Given the description of an element on the screen output the (x, y) to click on. 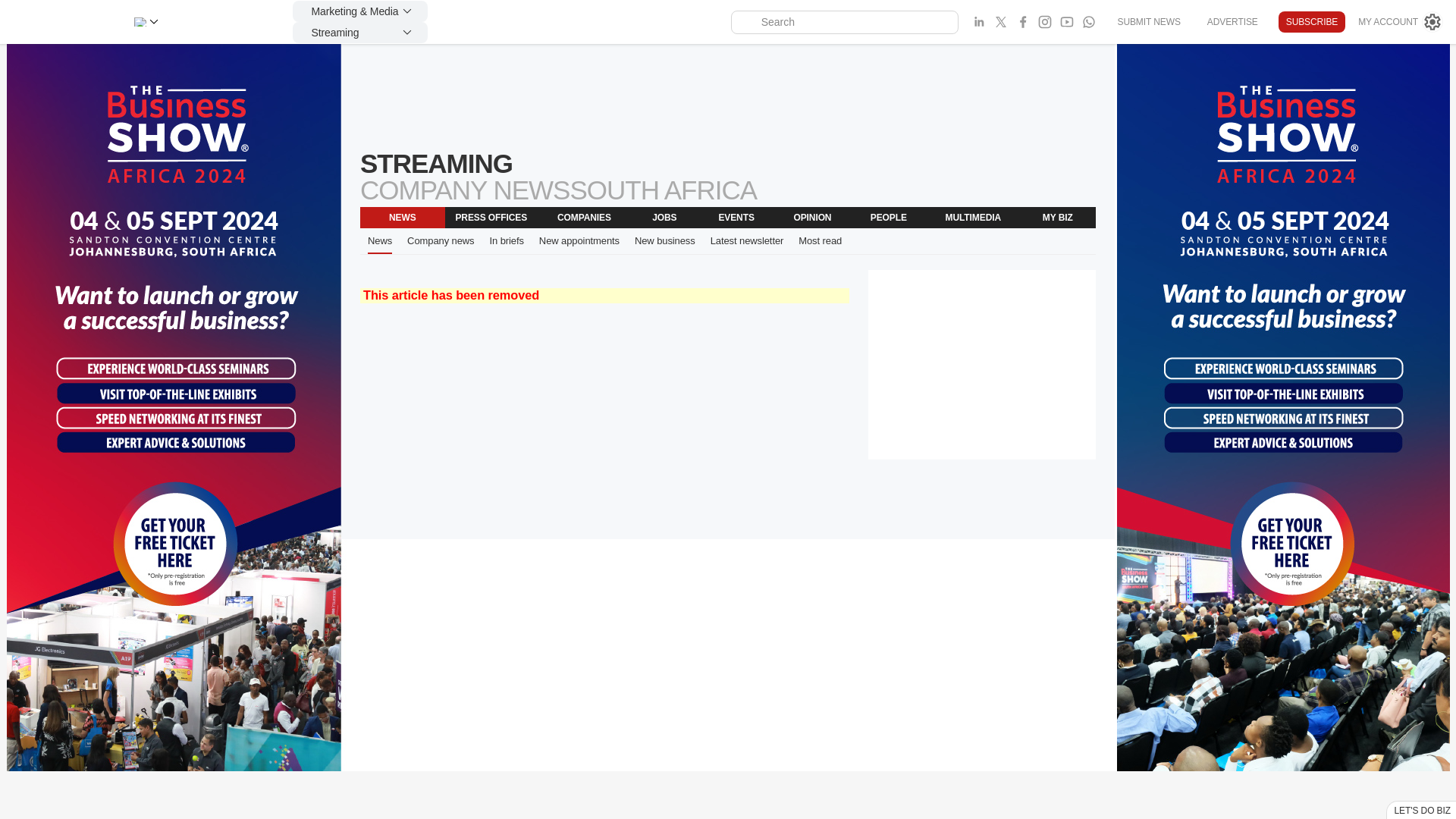
Bizcommunity instagram (1044, 22)
3rd party ad content (981, 364)
SUBSCRIBE (1311, 21)
Bizcommunity linked (978, 22)
3rd party ad content (727, 97)
Bizcommunity facebook (1088, 22)
ADVERTISE (1232, 21)
Bizcommunity facebook (1022, 22)
Bizcommunity youtube (1066, 22)
